Given the description of an element on the screen output the (x, y) to click on. 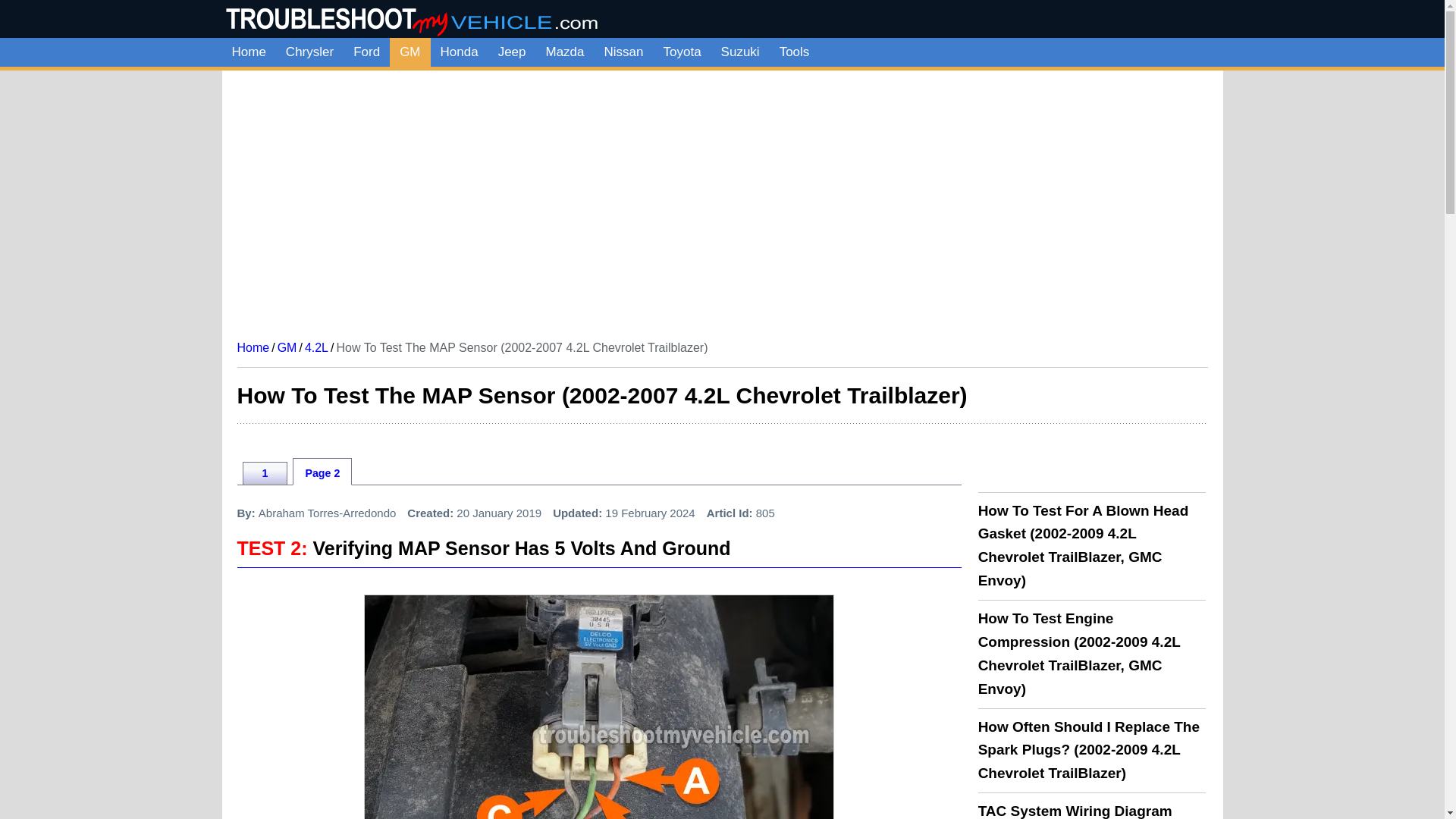
Ford (366, 51)
GM (409, 51)
Chrysler (309, 51)
Home (248, 51)
